Given the description of an element on the screen output the (x, y) to click on. 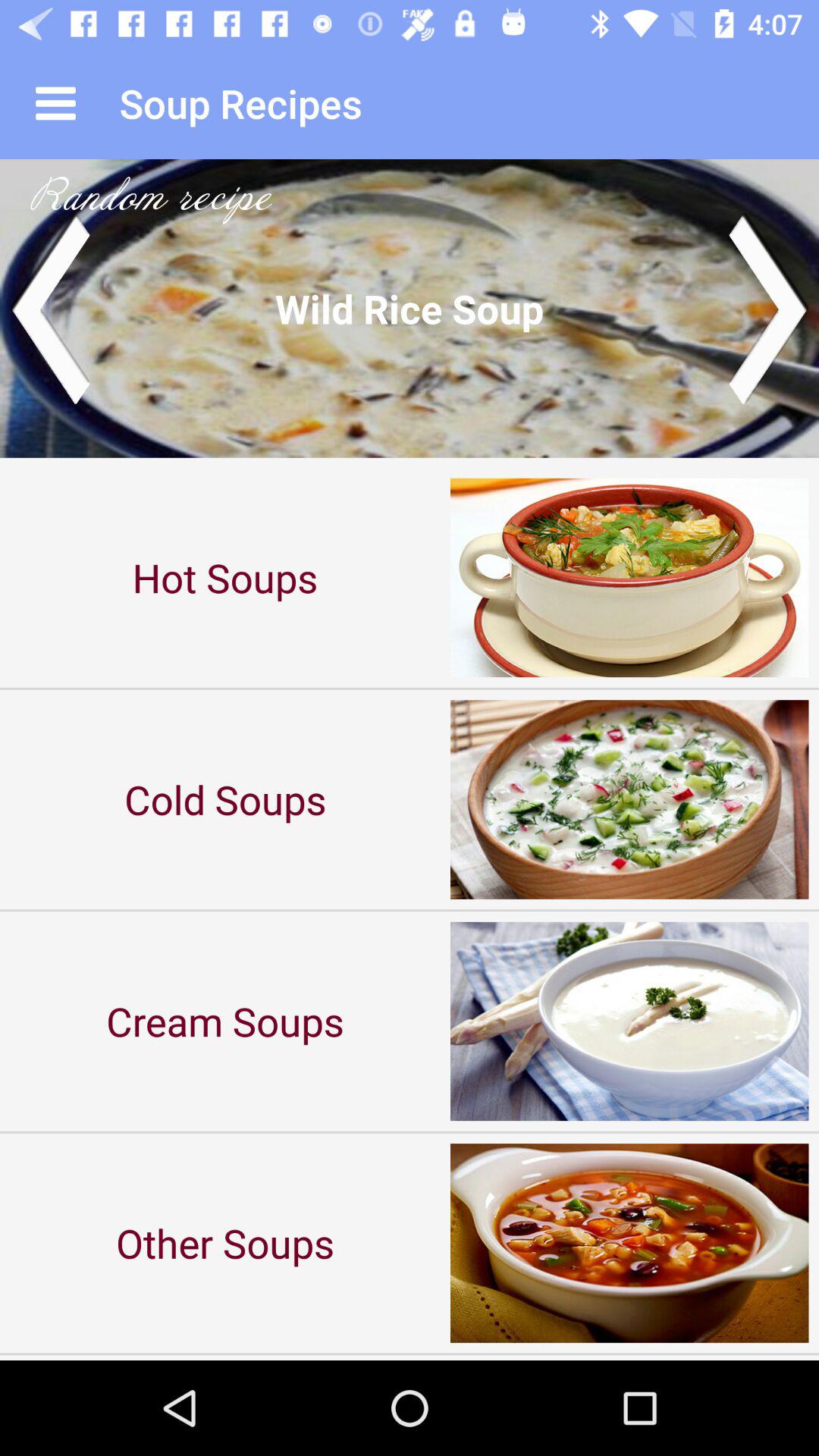
launch item above other soups icon (225, 1020)
